Given the description of an element on the screen output the (x, y) to click on. 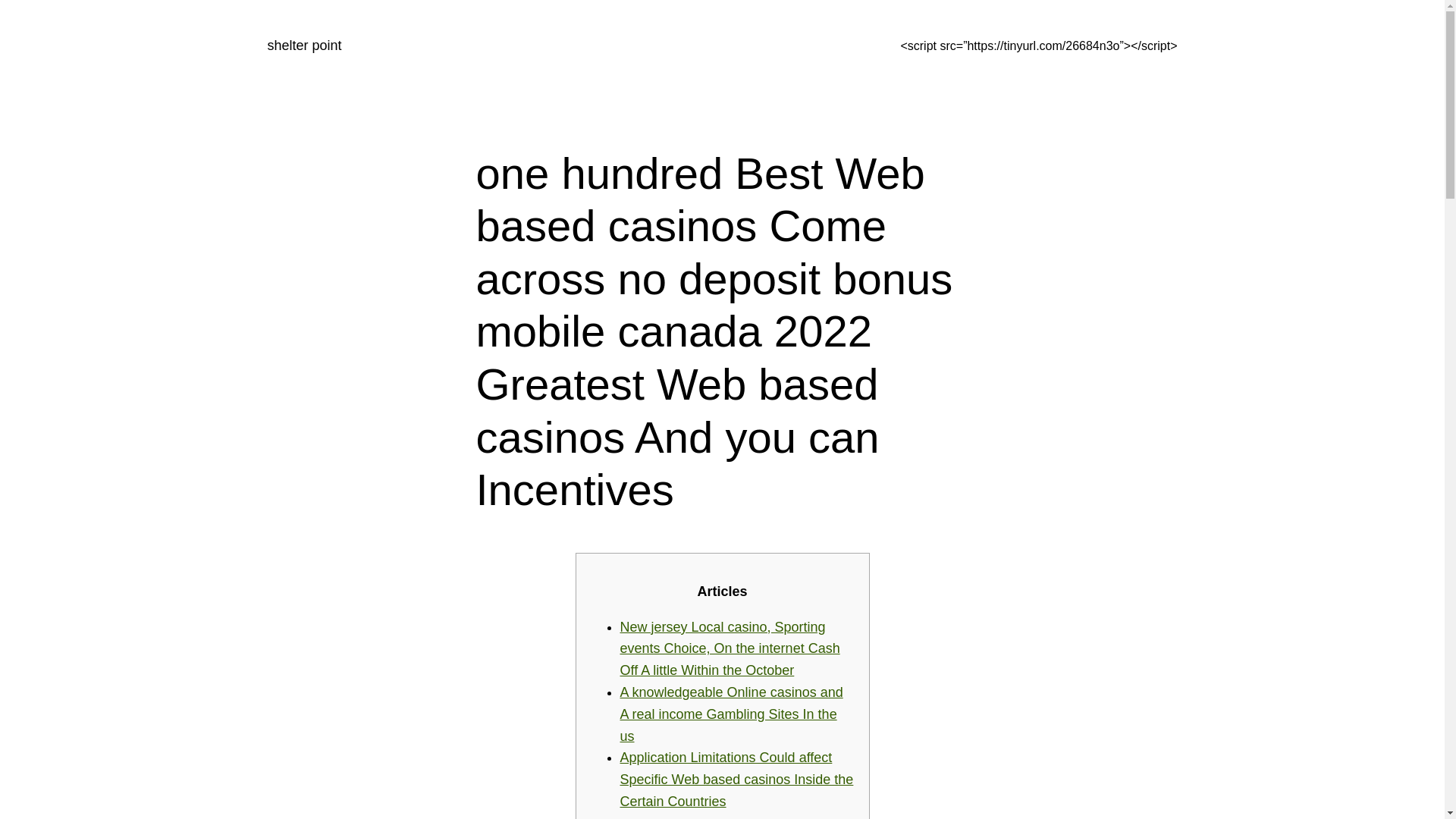
shelter point (303, 45)
